Given the description of an element on the screen output the (x, y) to click on. 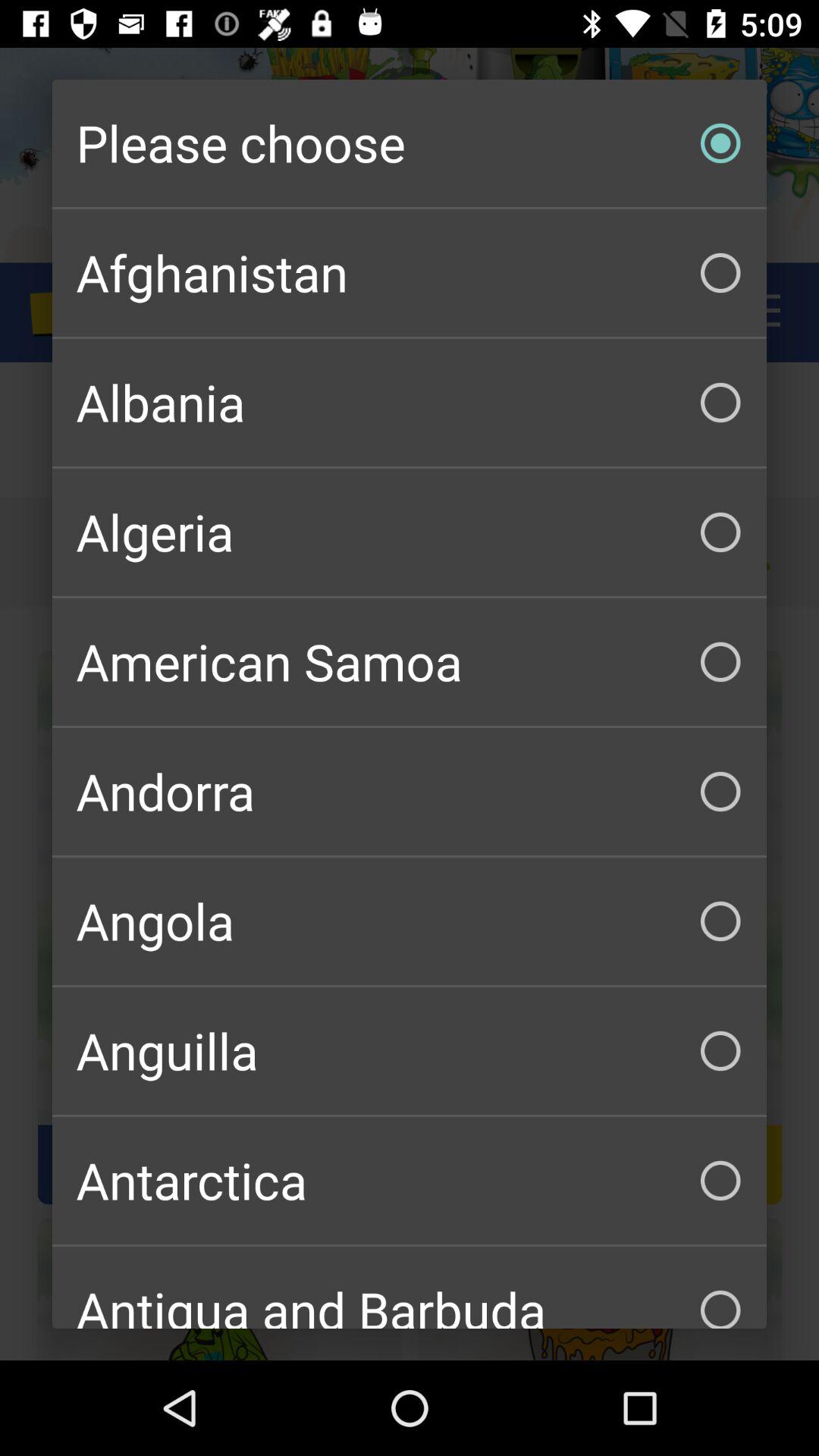
choose the albania icon (409, 402)
